Given the description of an element on the screen output the (x, y) to click on. 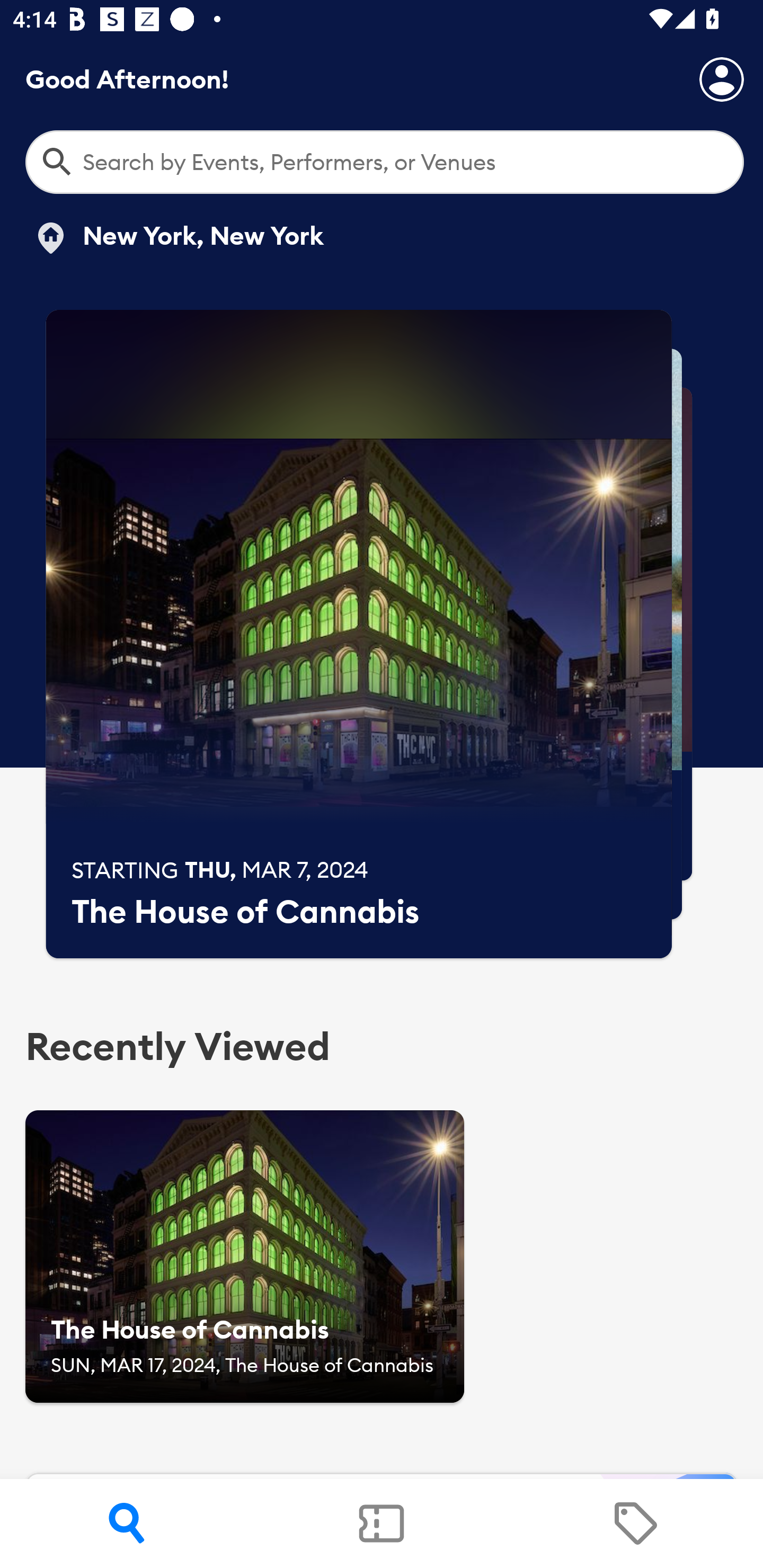
UserIcon (721, 78)
Search by Events, Performers, or Venues (384, 161)
New York, New York (177, 237)
STARTING THU, MAR 7, 2024 The House of Cannabis (358, 634)
Menu Item: Tickets (381, 1523)
Menu Item: Resale (635, 1523)
